Given the description of an element on the screen output the (x, y) to click on. 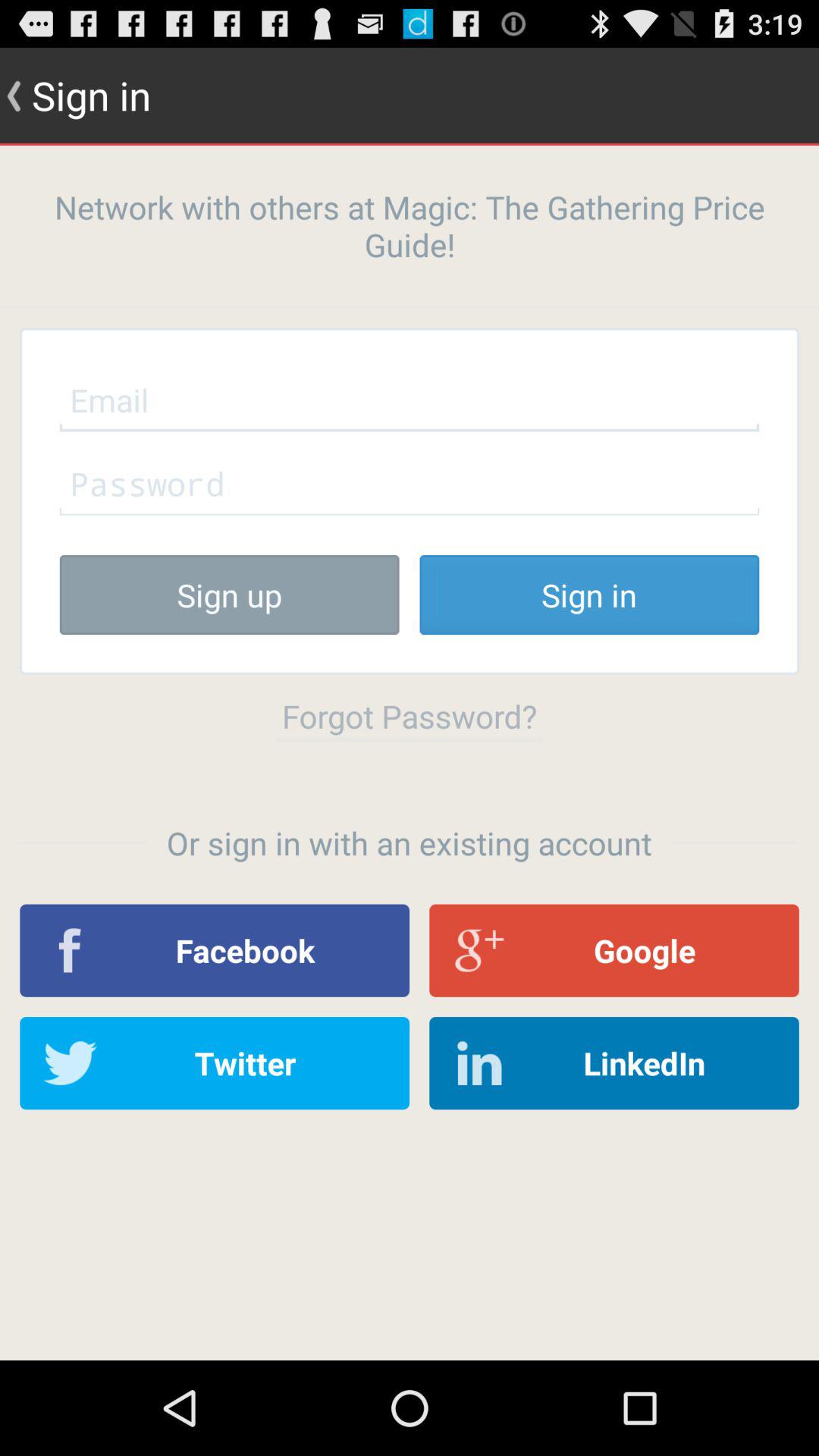
launch item at the bottom right corner (614, 1062)
